Given the description of an element on the screen output the (x, y) to click on. 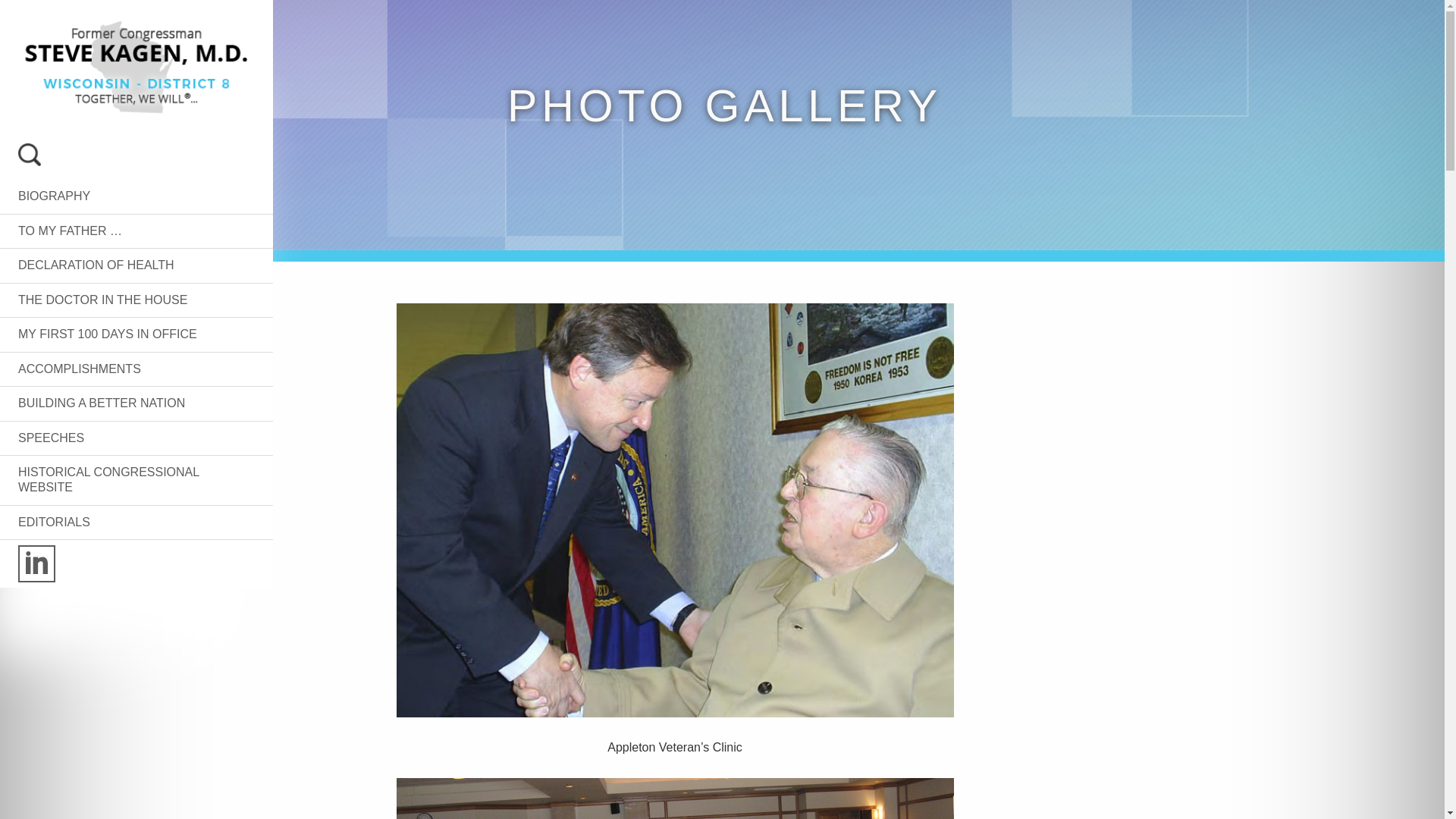
SPEECHES (50, 436)
BUILDING A BETTER NATION (100, 402)
HISTORICAL CONGRESSIONAL WEBSITE (108, 479)
EDITORIALS (53, 521)
BIOGRAPHY (53, 195)
DECLARATION OF HEALTH (95, 264)
THE DOCTOR IN THE HOUSE (102, 298)
ACCOMPLISHMENTS (79, 368)
MY FIRST 100 DAYS IN OFFICE (106, 333)
